Given the description of an element on the screen output the (x, y) to click on. 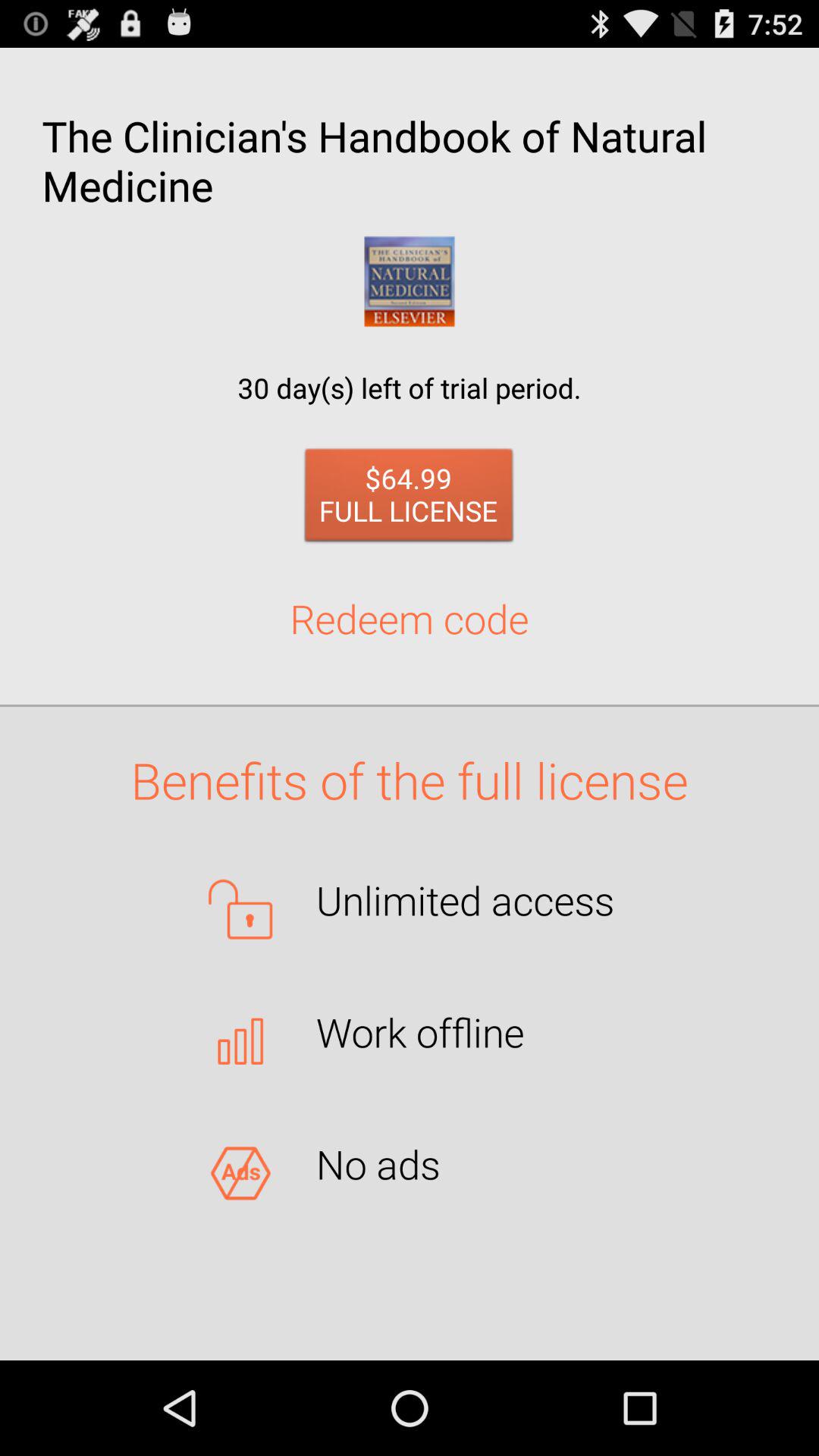
tap the 64 99 full item (409, 499)
